Given the description of an element on the screen output the (x, y) to click on. 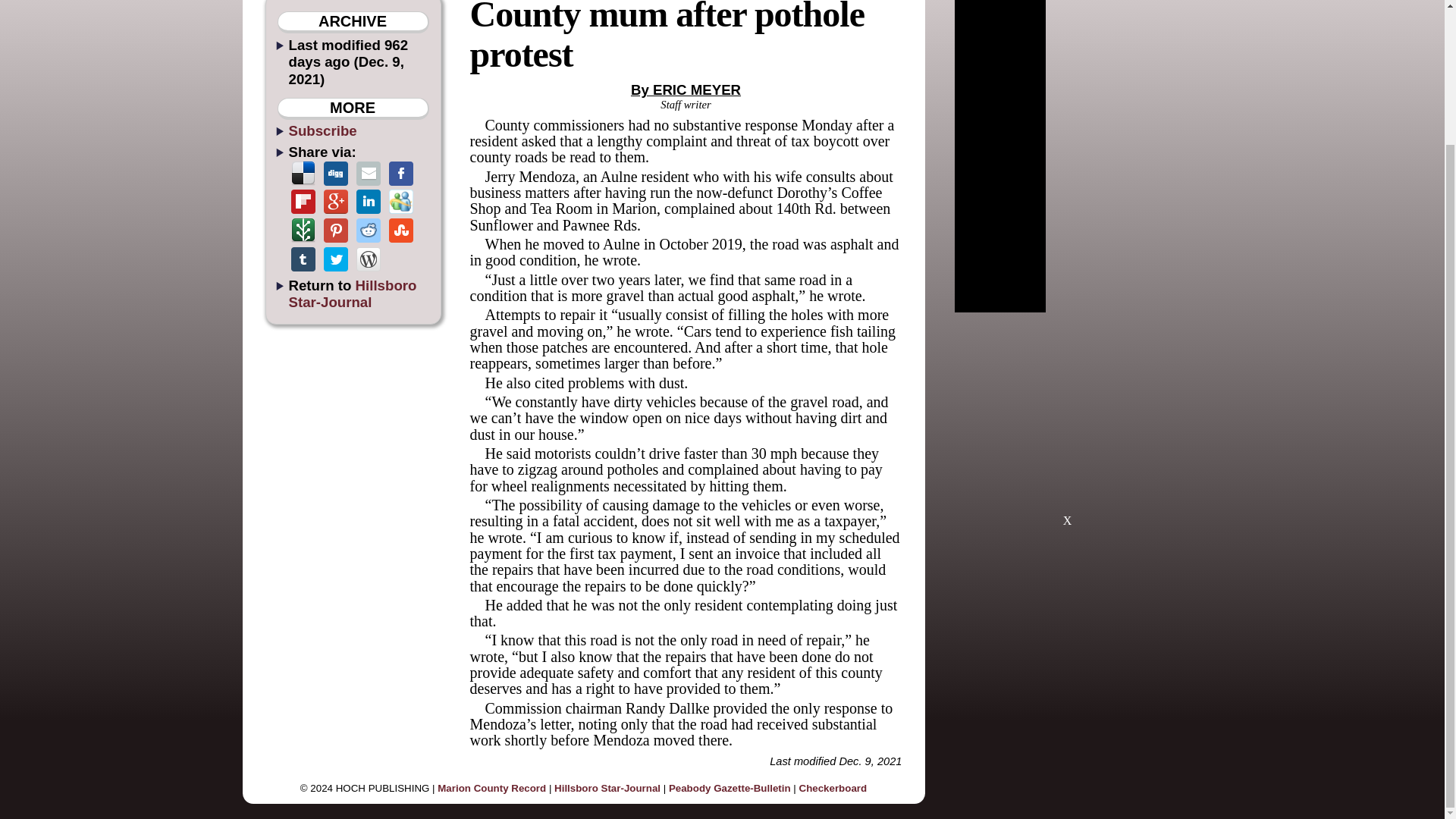
Hillsboro Star-Journal (352, 293)
Advertisement (1067, 425)
Hillsboro Star-Journal (607, 787)
Peabody Gazette-Bulletin (729, 787)
Marion County Record (492, 787)
Subscribe (322, 130)
Checkerboard (833, 787)
